Given the description of an element on the screen output the (x, y) to click on. 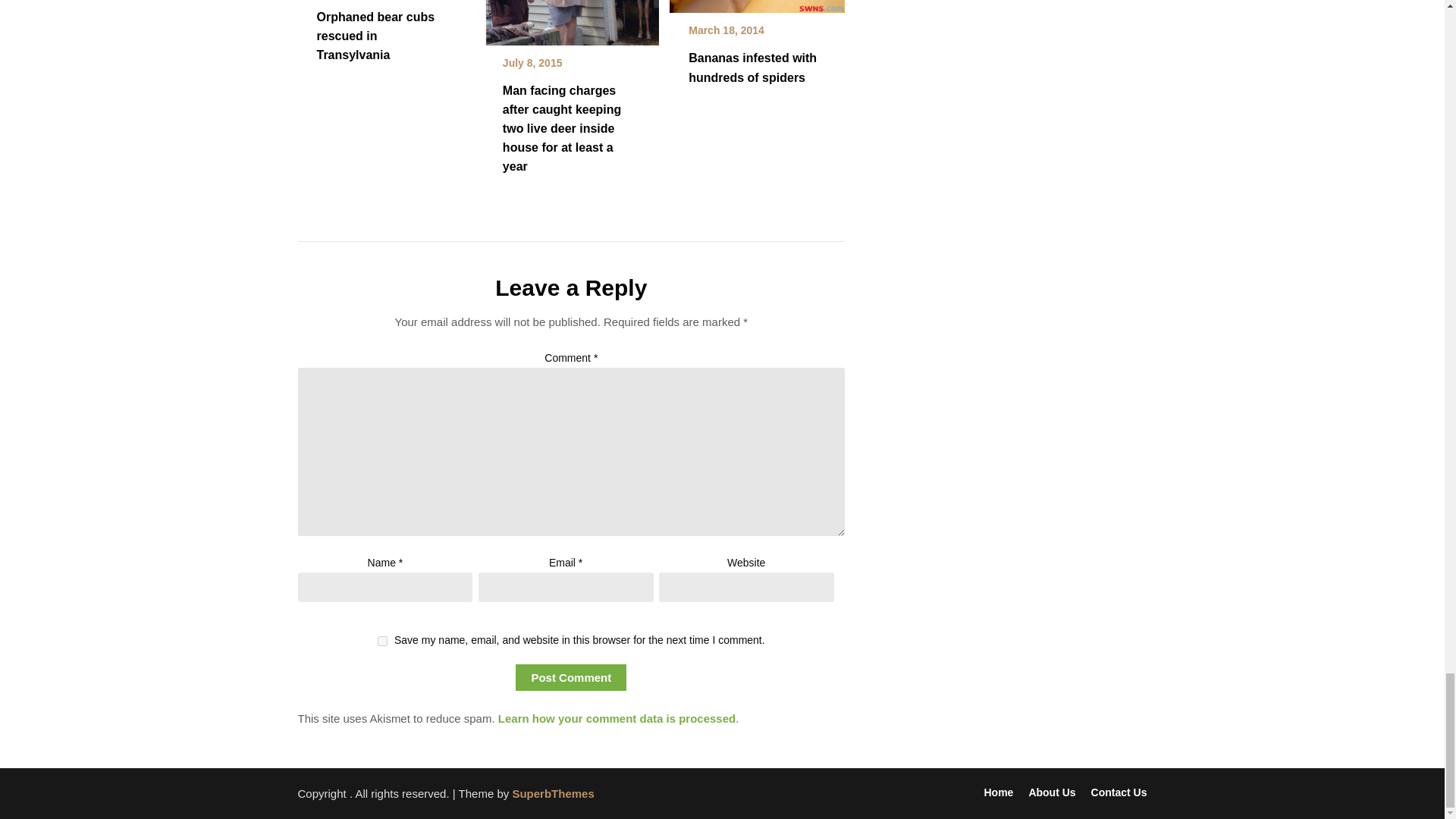
Post Comment (570, 677)
yes (382, 641)
Orphaned bear cubs rescued in Transylvania (376, 35)
